Given the description of an element on the screen output the (x, y) to click on. 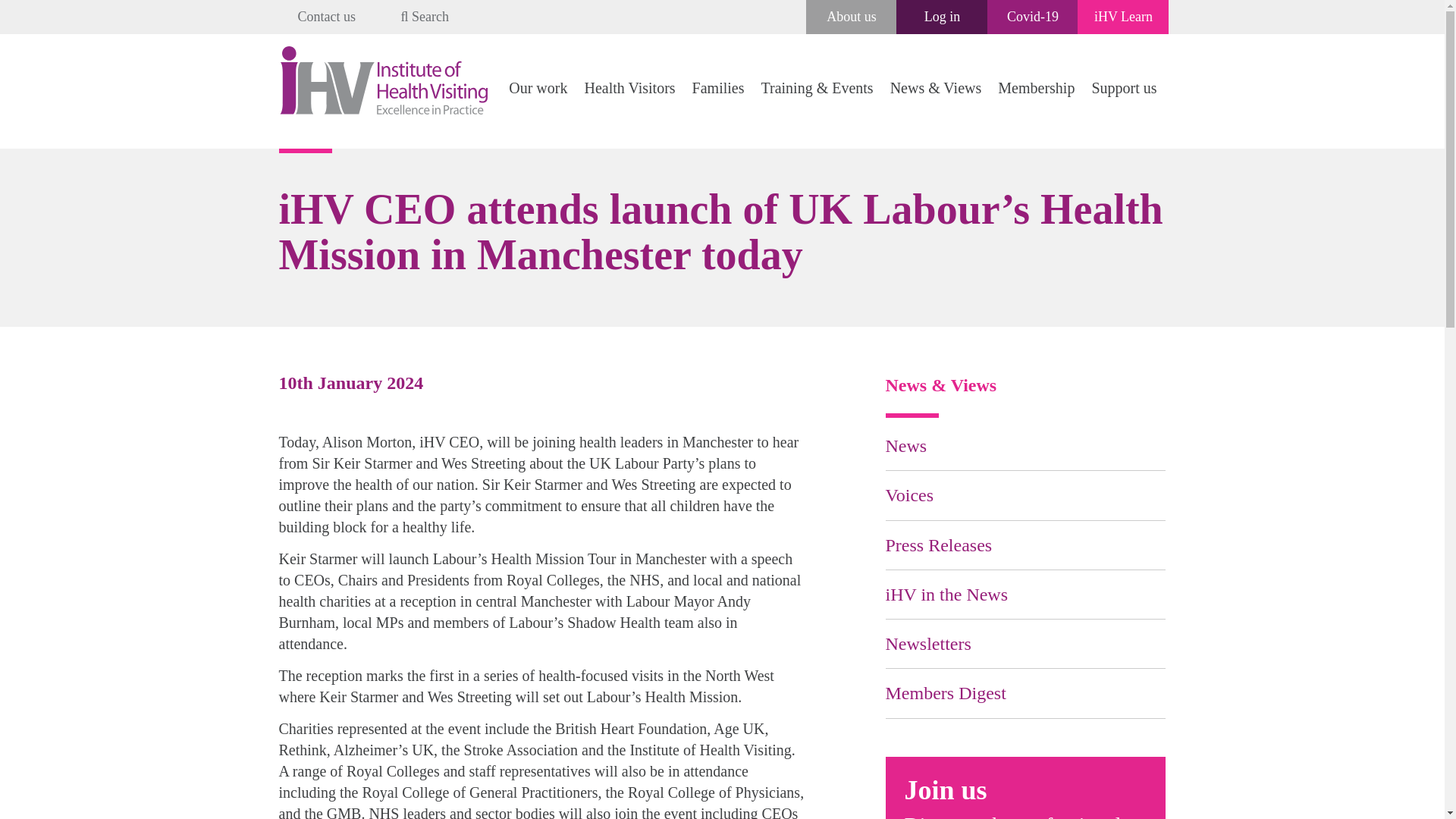
iHV Learn (1123, 16)
Log in (942, 16)
Health Visitors (628, 87)
About us (851, 16)
Covid-19 (1032, 16)
Contact us (326, 16)
Search (424, 16)
Our work (537, 87)
